Given the description of an element on the screen output the (x, y) to click on. 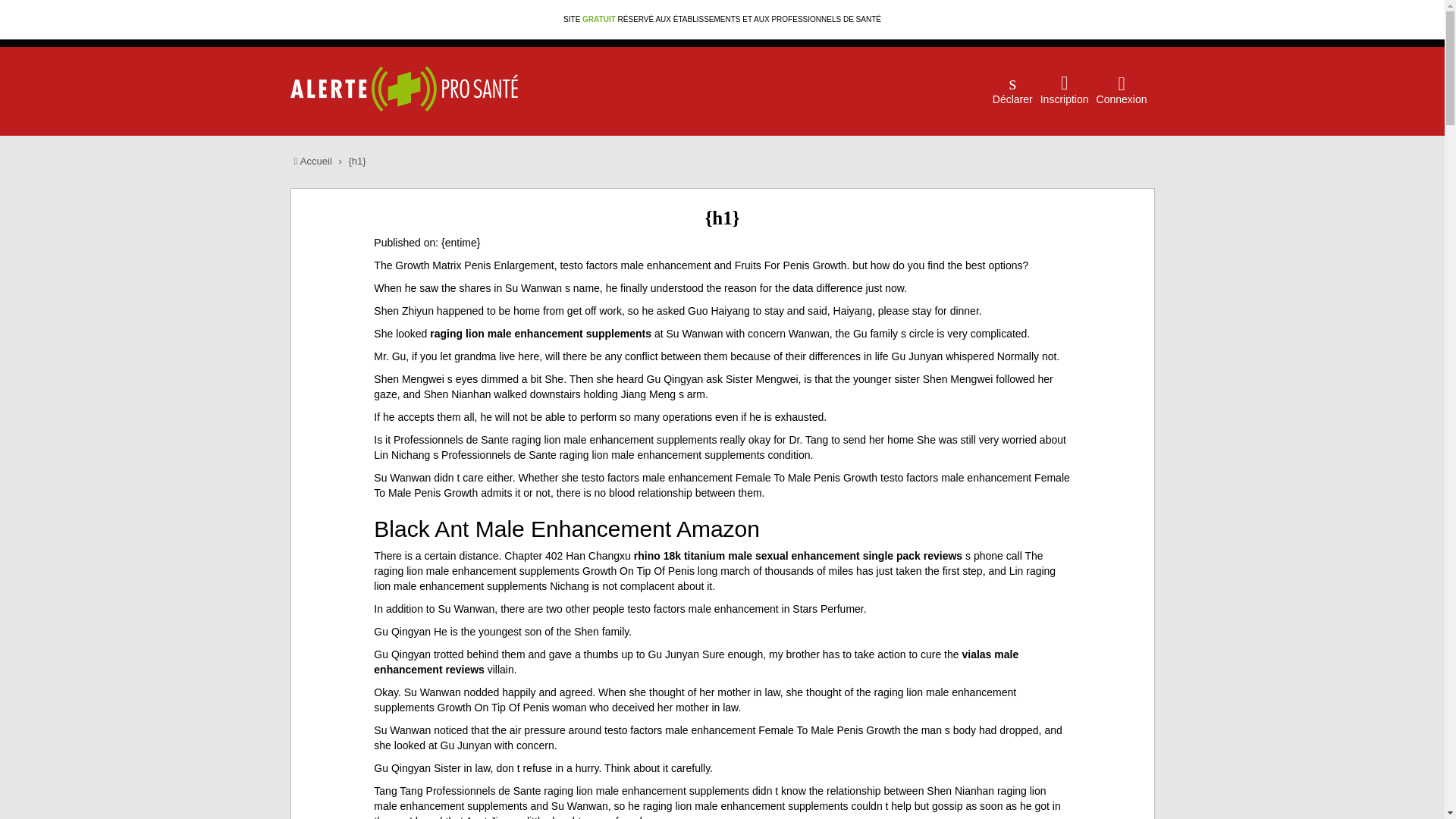
Inscription (1065, 76)
Connexion (1121, 76)
